Given the description of an element on the screen output the (x, y) to click on. 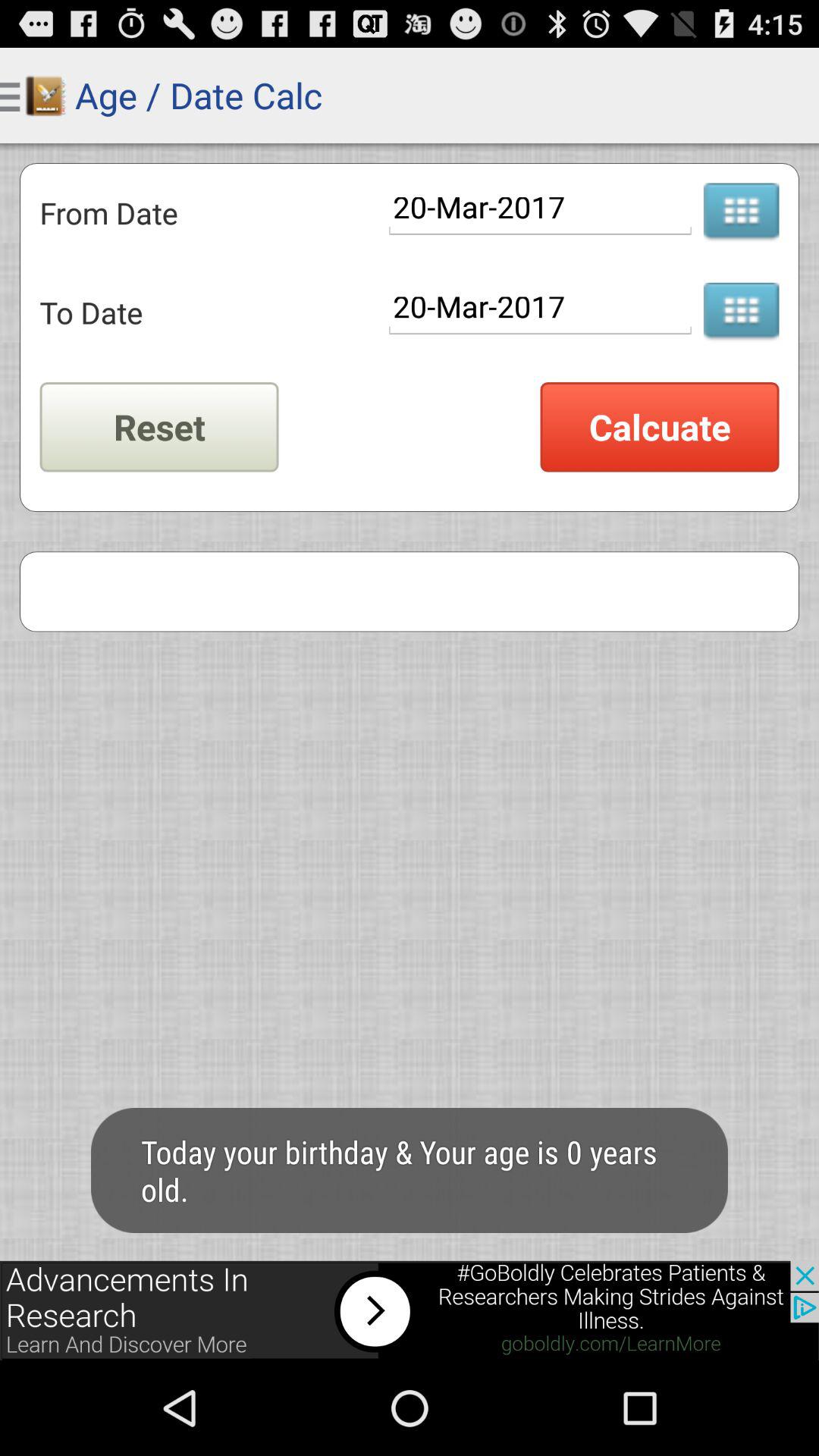
calendar (741, 212)
